Given the description of an element on the screen output the (x, y) to click on. 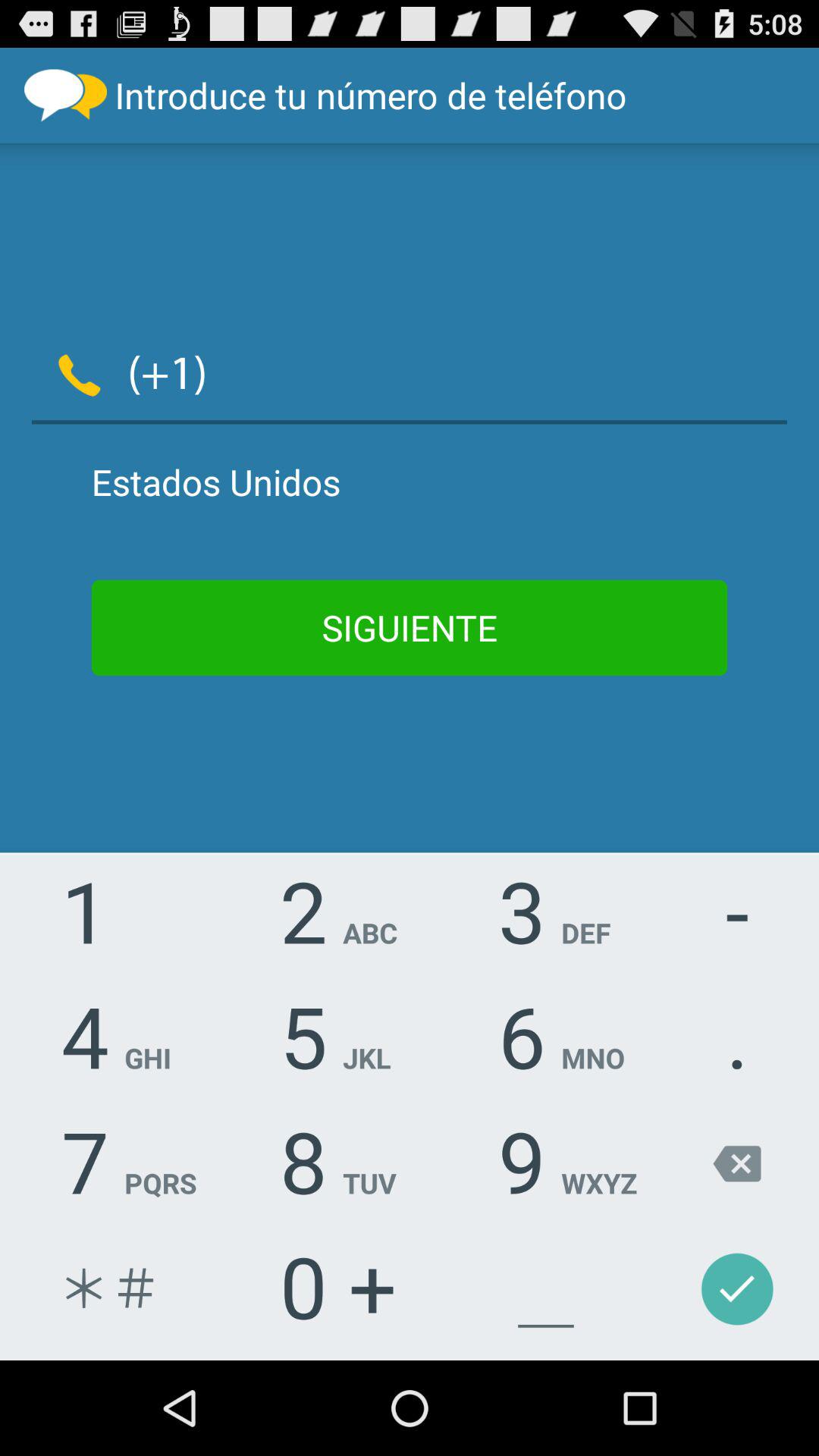
ender the text box (507, 371)
